Given the description of an element on the screen output the (x, y) to click on. 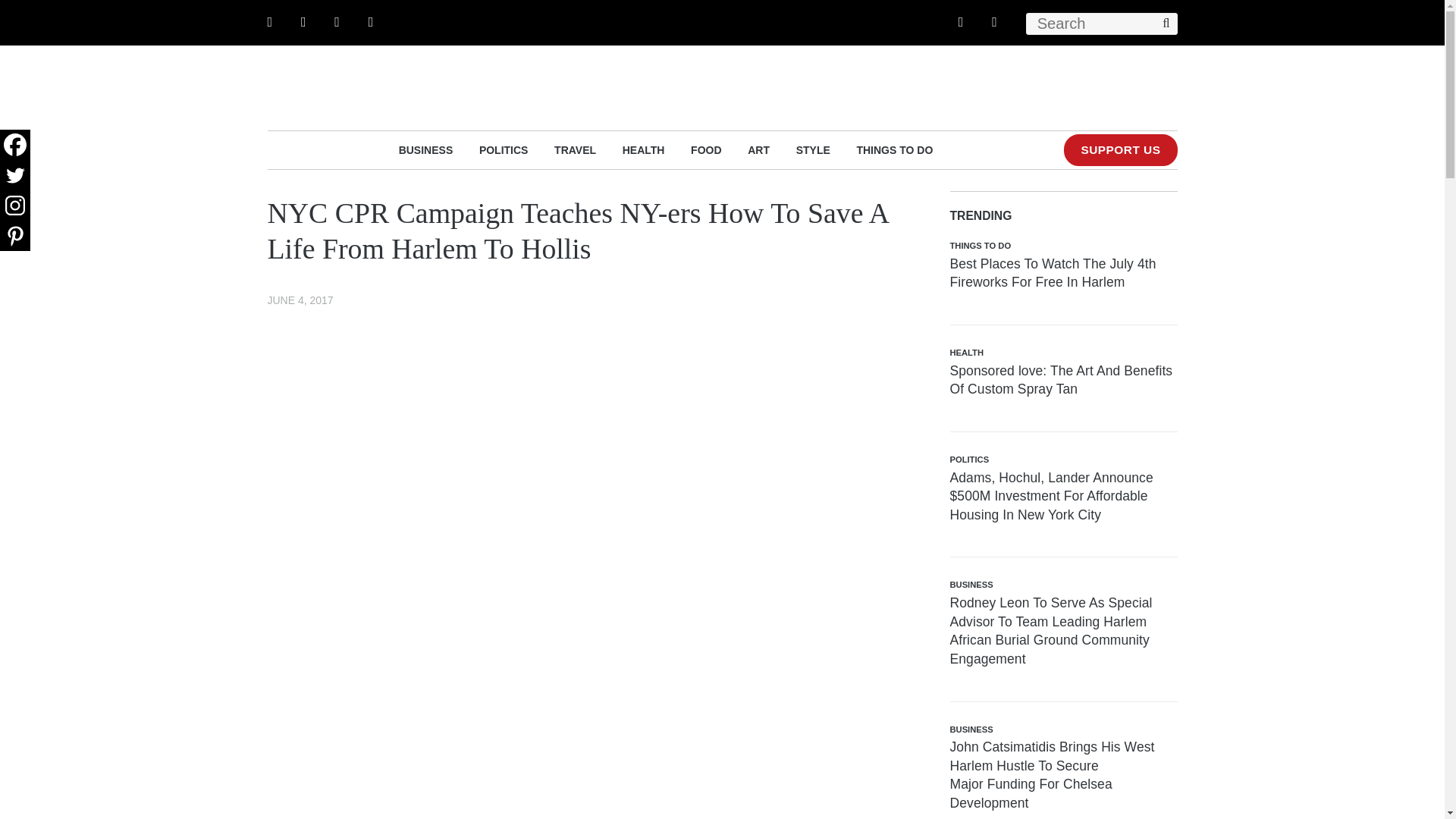
Facebook (15, 144)
STYLE (812, 149)
HEALTH (644, 149)
Instagram (15, 205)
TRAVEL (574, 149)
THINGS TO DO (894, 149)
POLITICS (503, 149)
BUSINESS (425, 149)
Pinterest (15, 235)
SUPPORT US (1120, 150)
Twitter (15, 174)
